Given the description of an element on the screen output the (x, y) to click on. 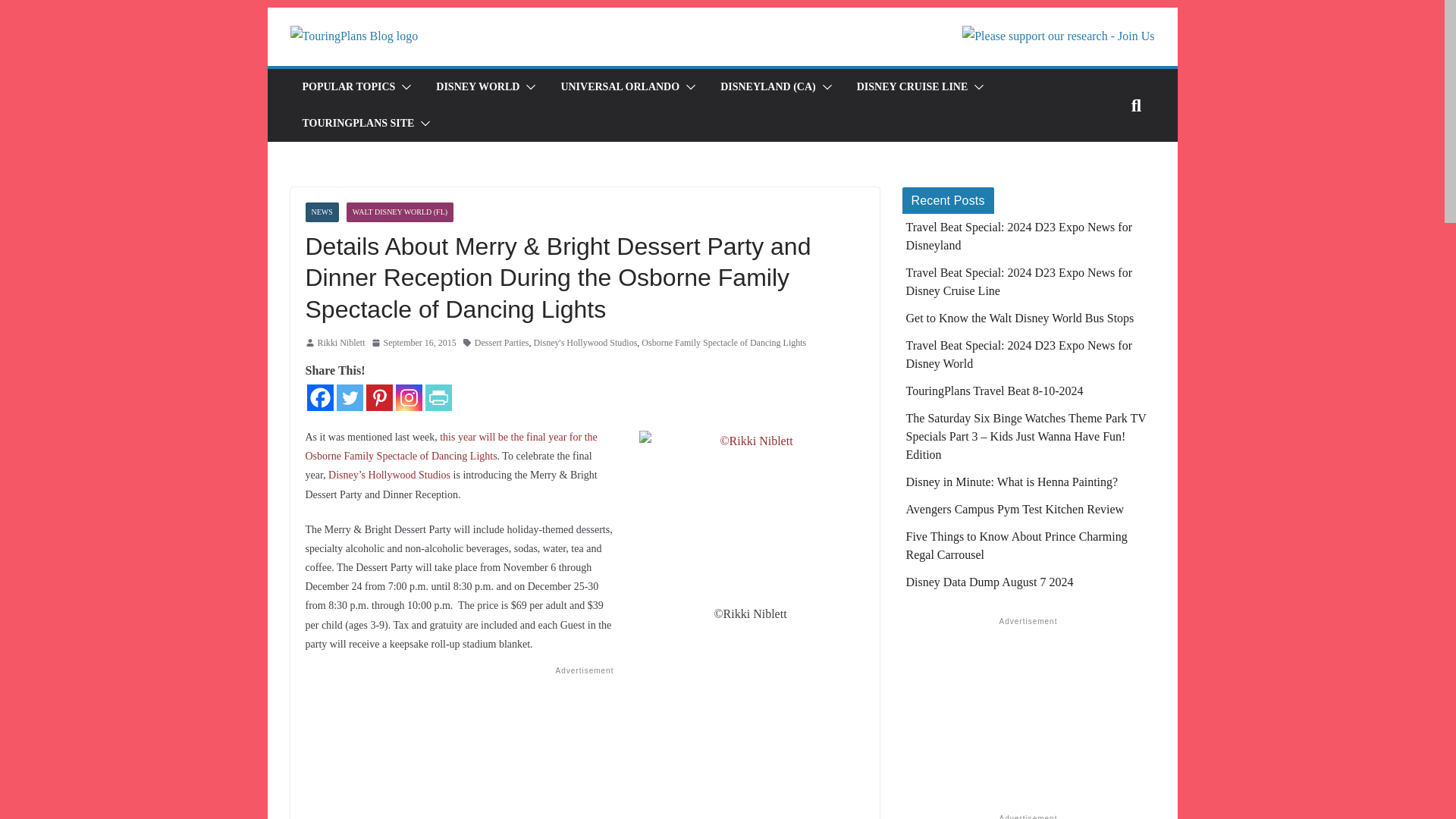
Pinterest (378, 397)
Facebook (319, 397)
DISNEY WORLD (477, 86)
UNIVERSAL ORLANDO (619, 86)
DISNEY CRUISE LINE (912, 86)
Rikki Niblett (341, 343)
Twitter (349, 397)
6:09 pm (414, 343)
TOURINGPLANS SITE (357, 123)
